Given the description of an element on the screen output the (x, y) to click on. 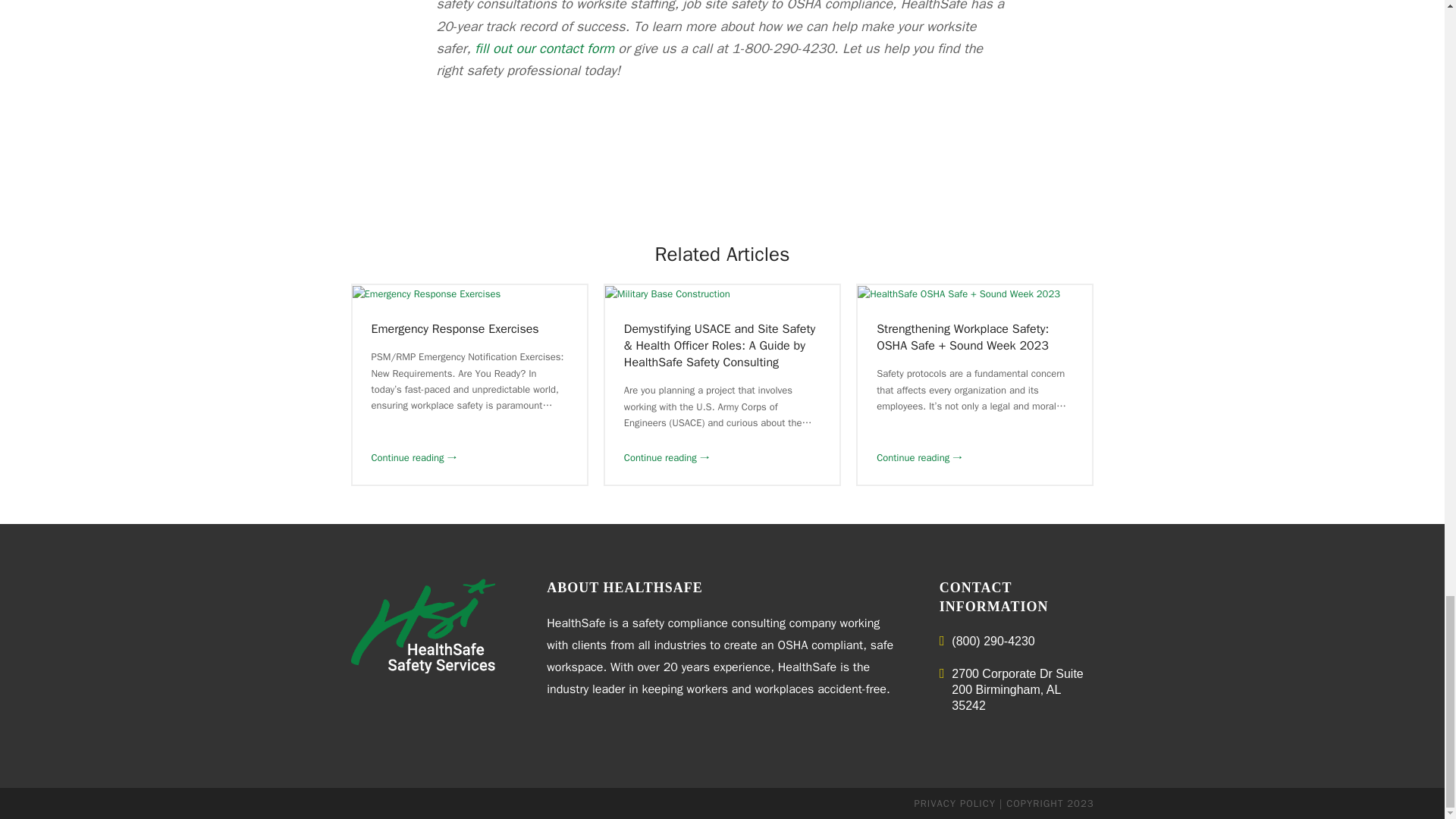
PRIVACY POLICY (954, 802)
Emergency Response Exercises (454, 328)
fill out our contact form (544, 48)
2700 Corporate Dr Suite 200 Birmingham, AL 35242 (1016, 673)
